Given the description of an element on the screen output the (x, y) to click on. 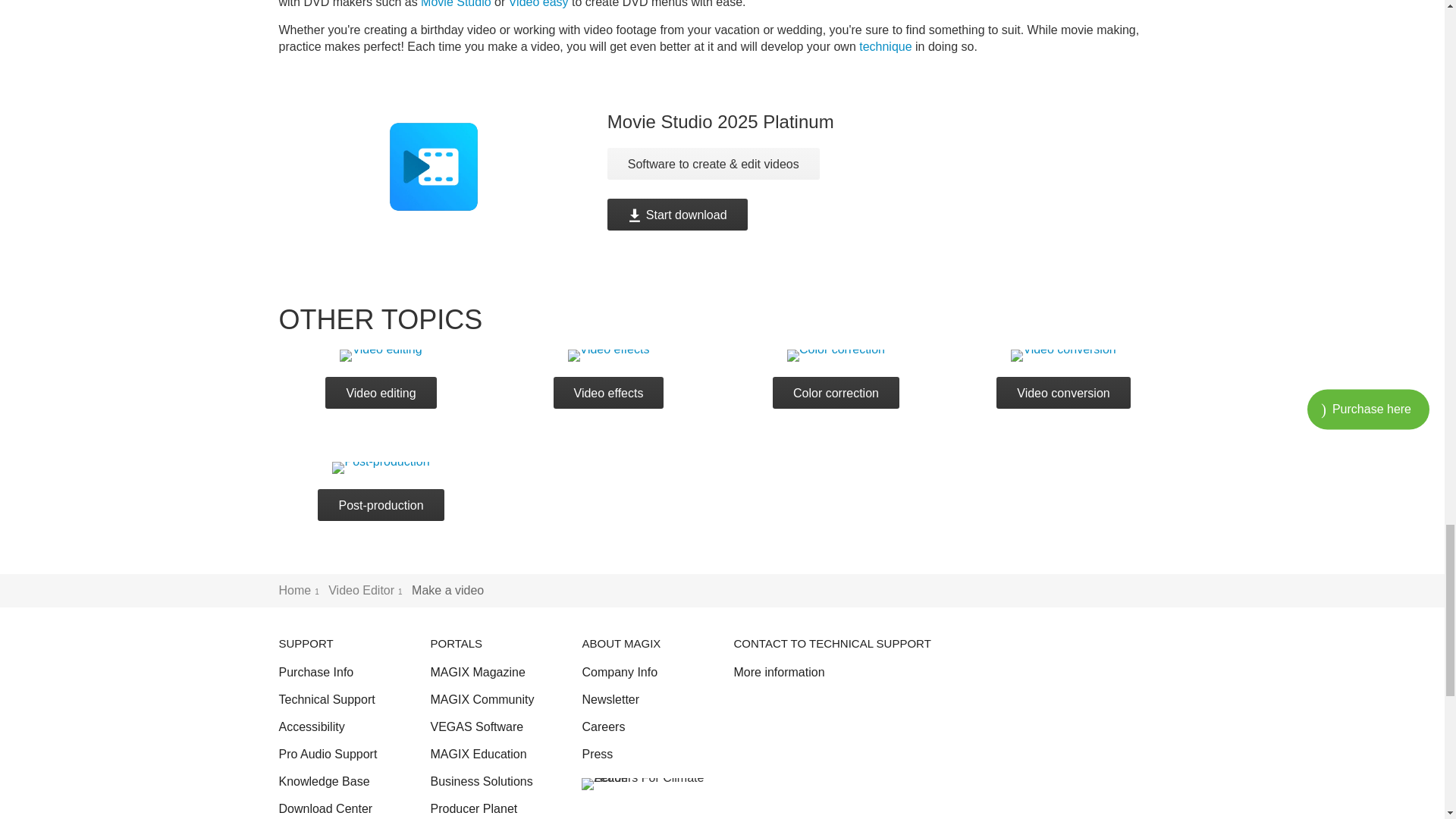
Color correction (836, 355)
Post-production (380, 467)
Video editing (380, 355)
Video effects (608, 355)
MAGIX Movie Studio 2025 Platinum (468, 180)
Leaders For Climate Action (645, 784)
Video conversion (1062, 355)
